Given the description of an element on the screen output the (x, y) to click on. 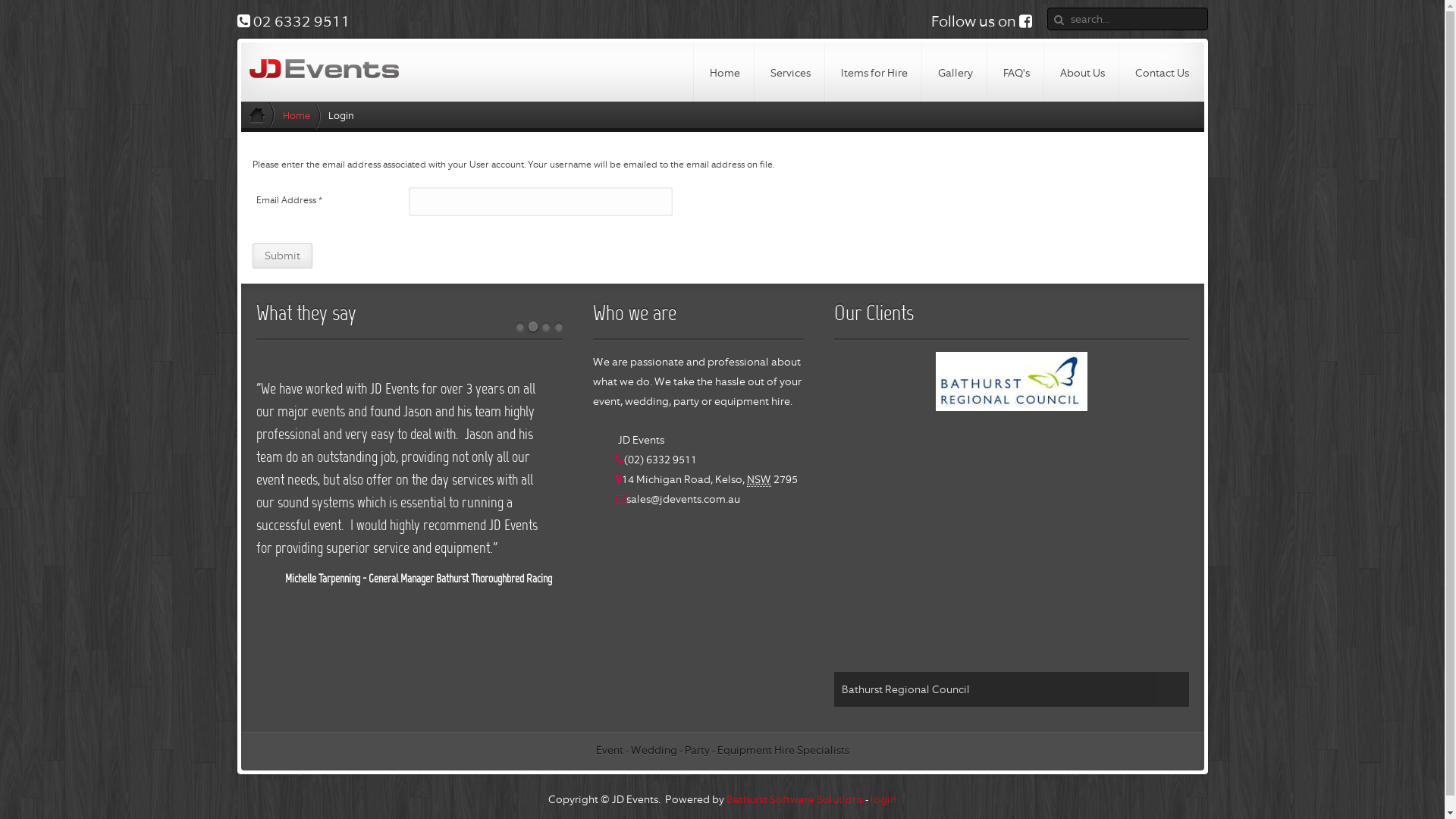
Reset Element type: text (16, 10)
Items for Hire Element type: text (873, 71)
Gallery Element type: text (954, 71)
Home Element type: text (302, 115)
Contact Us Element type: text (1161, 71)
Home Element type: text (724, 71)
About Us Element type: text (1082, 71)
Services Element type: text (790, 71)
Submit Element type: text (281, 255)
Bathurst Software Solutions Element type: text (794, 799)
login Element type: text (883, 799)
FAQ's Element type: text (1015, 71)
